Given the description of an element on the screen output the (x, y) to click on. 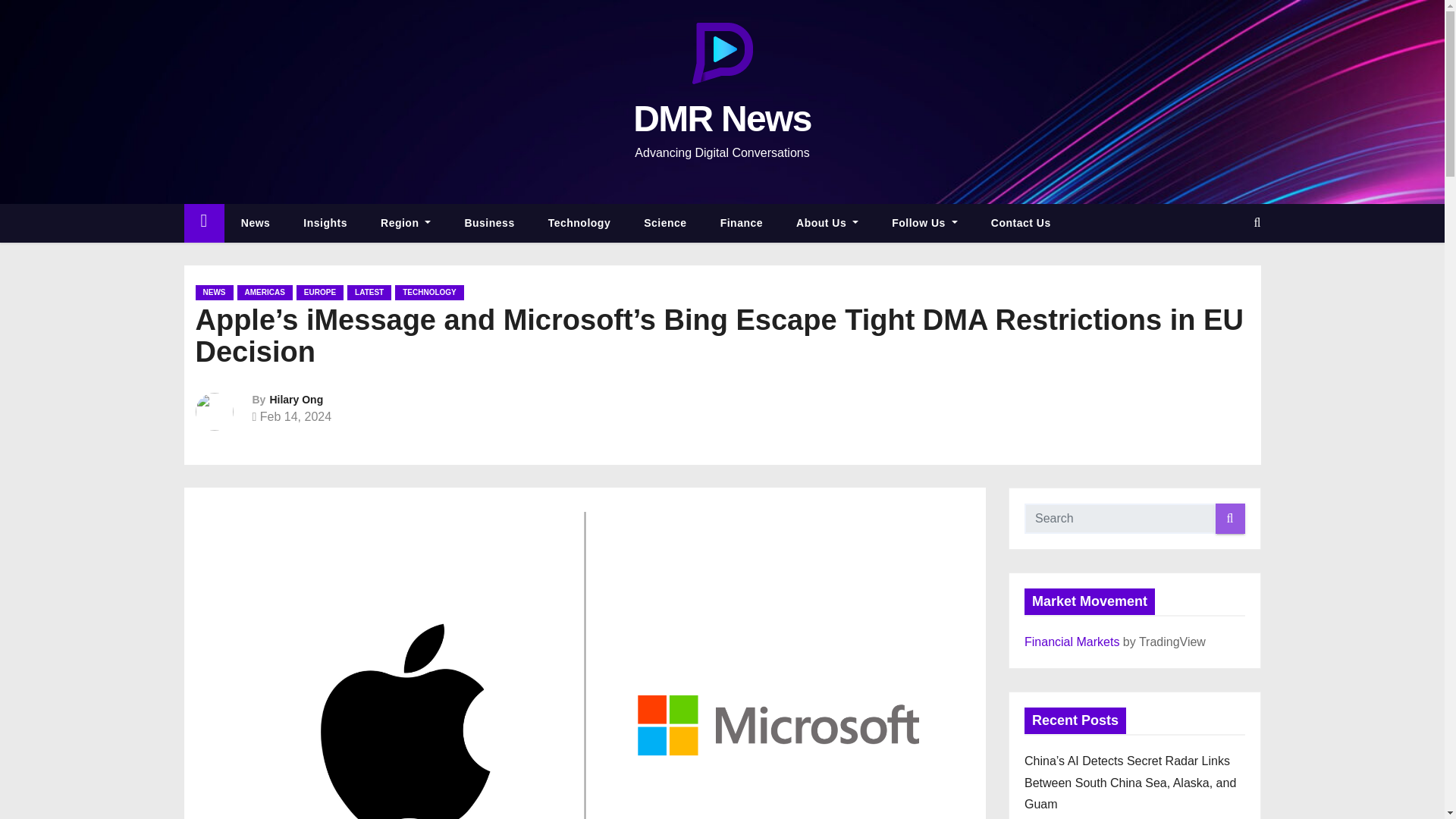
Finance (740, 222)
Home (203, 222)
Hilary Ong (296, 399)
Insights (325, 222)
Science (665, 222)
NEWS (213, 292)
News (255, 222)
Insights (325, 222)
EUROPE (320, 292)
Technology (579, 222)
